Given the description of an element on the screen output the (x, y) to click on. 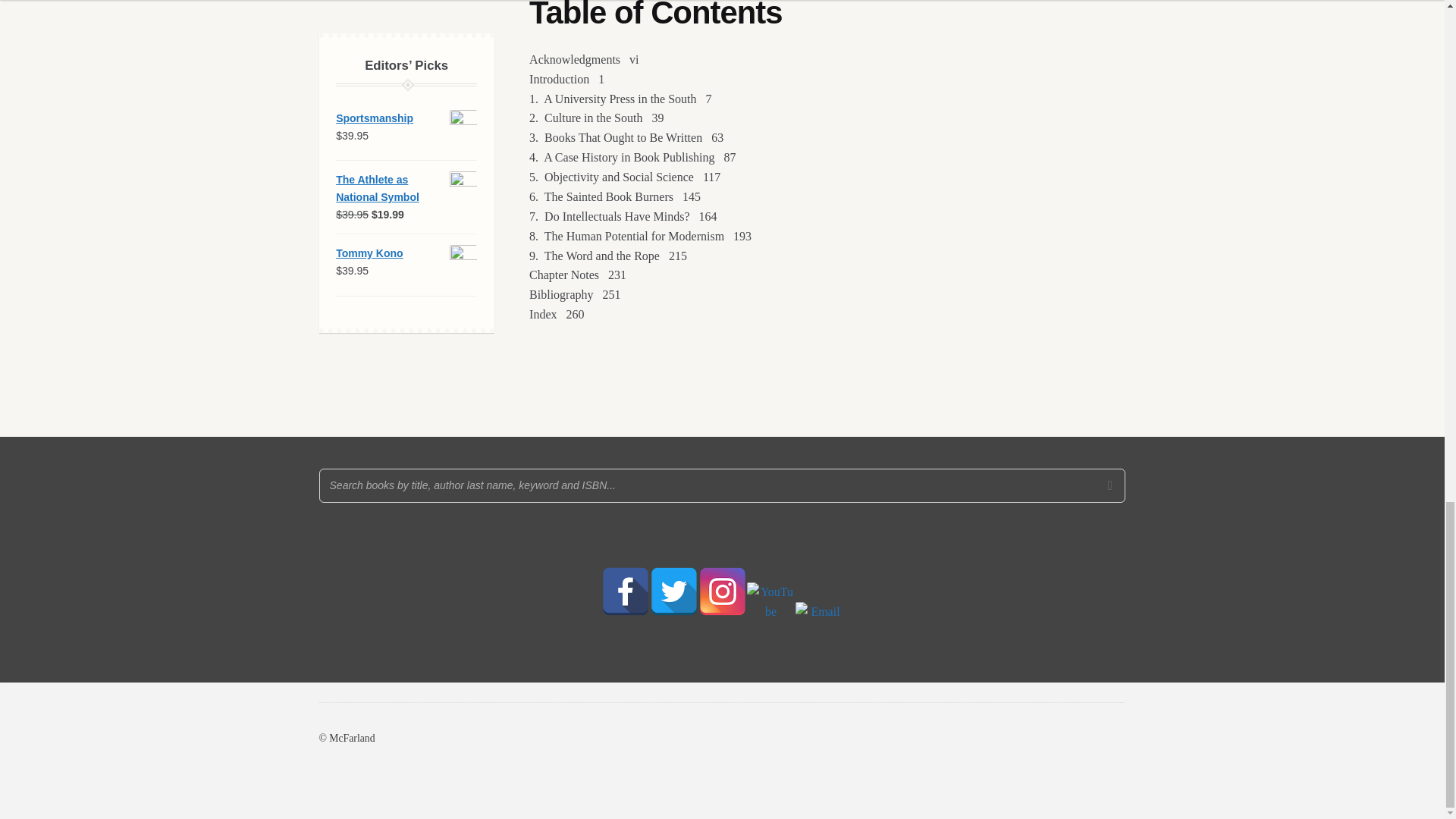
YouTube (769, 606)
Email (818, 625)
Twitter (673, 591)
Instagram (721, 591)
Facebook (624, 591)
